Given the description of an element on the screen output the (x, y) to click on. 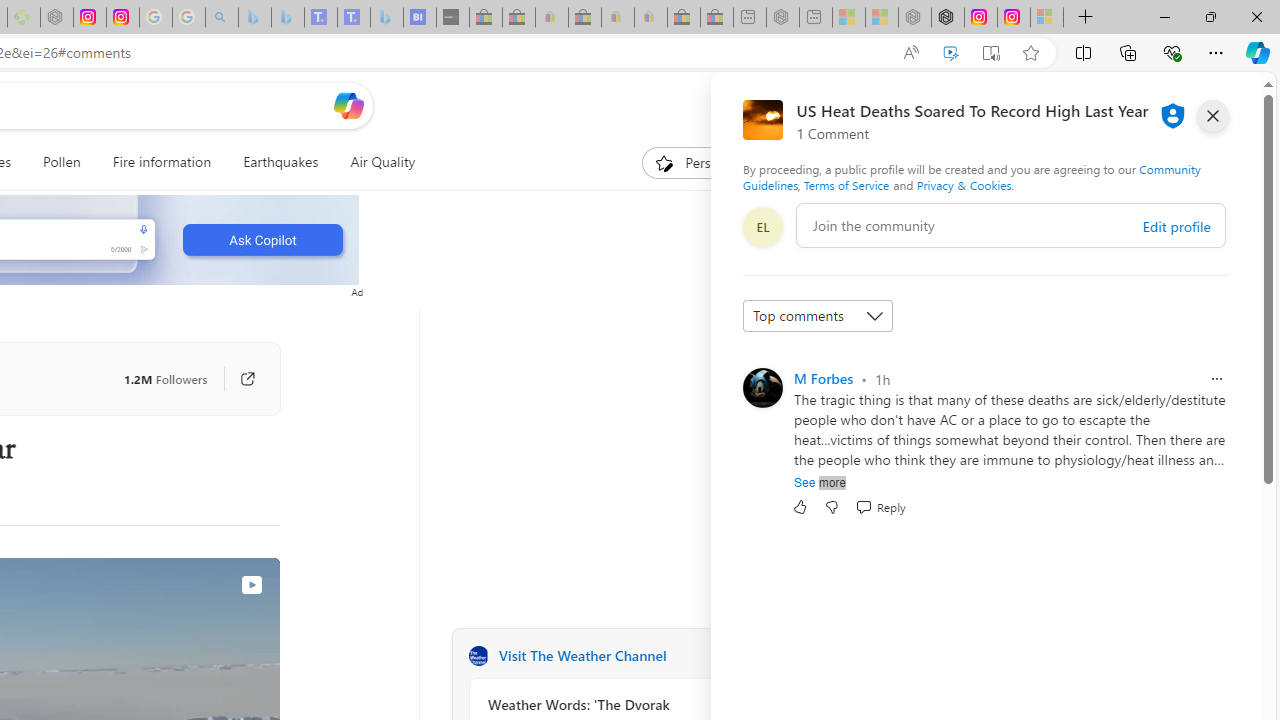
Report comment (1216, 378)
Pollen (61, 162)
Sort comments by (817, 315)
Air Quality (375, 162)
Personalize (703, 162)
View on Watch (251, 585)
Shangri-La Bangkok, Hotel reviews and Room rates - Sleeping (353, 17)
